Given the description of an element on the screen output the (x, y) to click on. 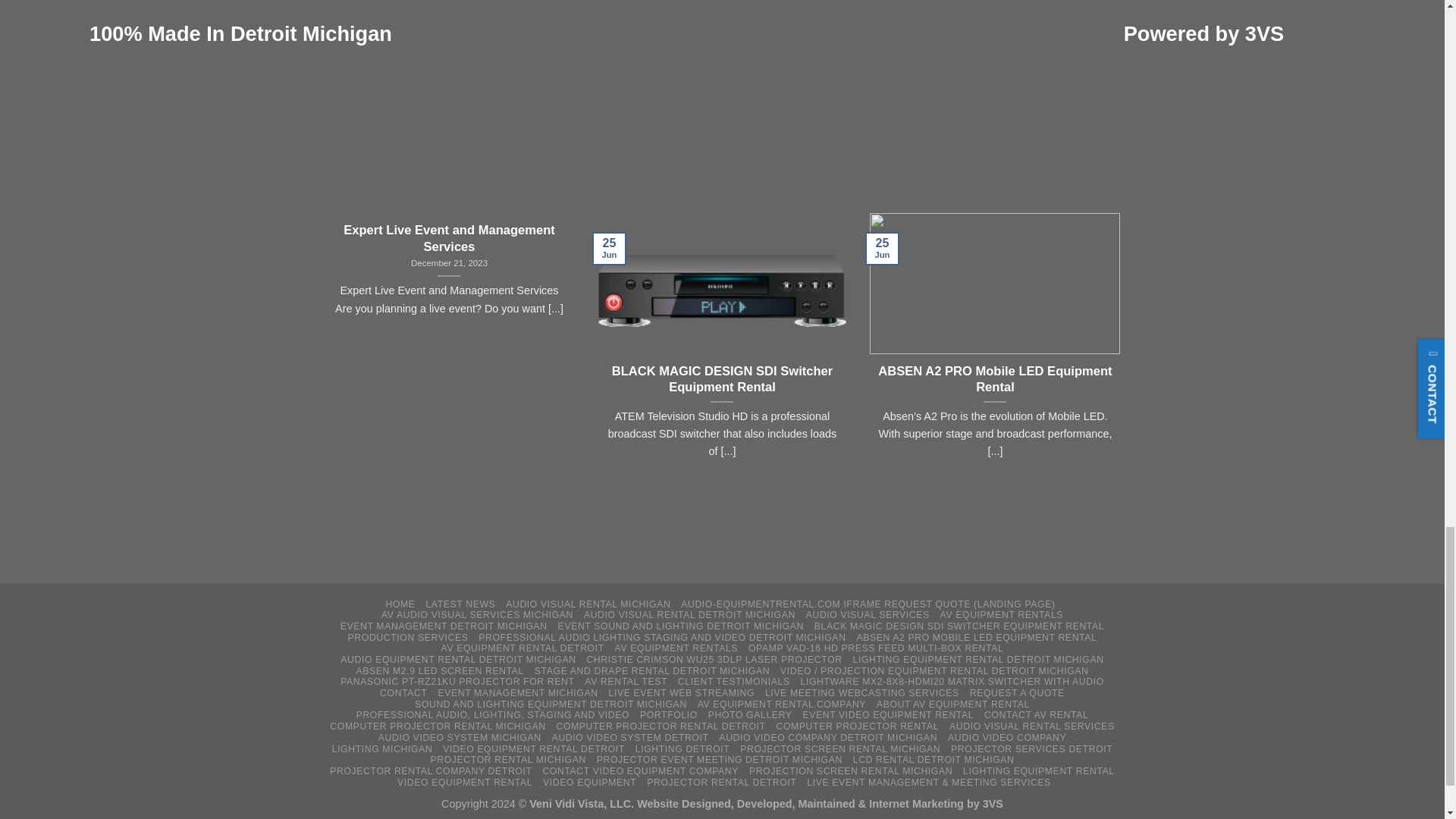
Website Design Company Michigan (717, 803)
